Given the description of an element on the screen output the (x, y) to click on. 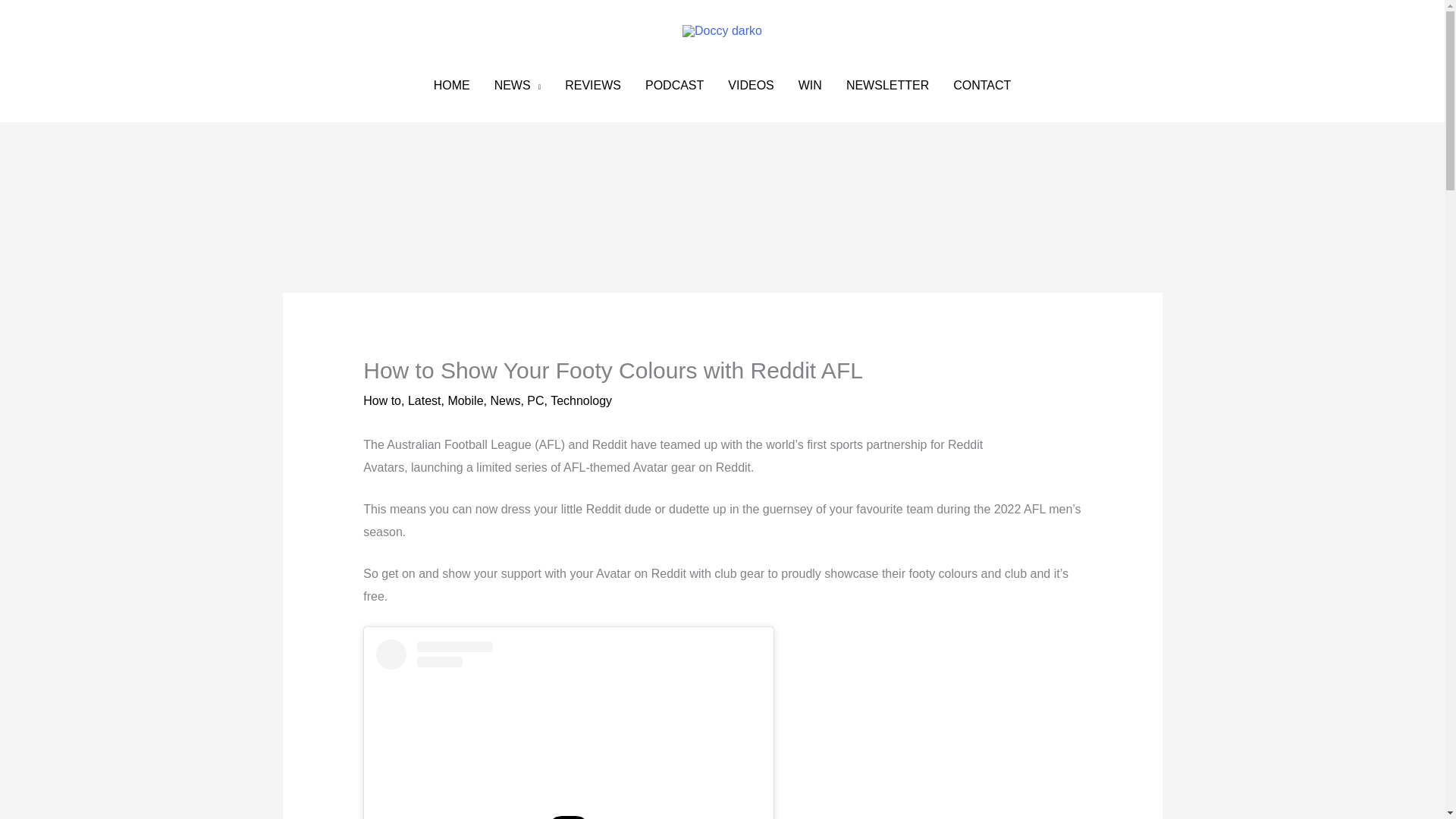
PODCAST (674, 85)
REVIEWS (593, 85)
NEWSLETTER (887, 85)
NEWS (517, 85)
Mobile (464, 400)
WIN (810, 85)
View this post on Instagram (568, 729)
HOME (451, 85)
VIDEOS (751, 85)
How to (381, 400)
